Given the description of an element on the screen output the (x, y) to click on. 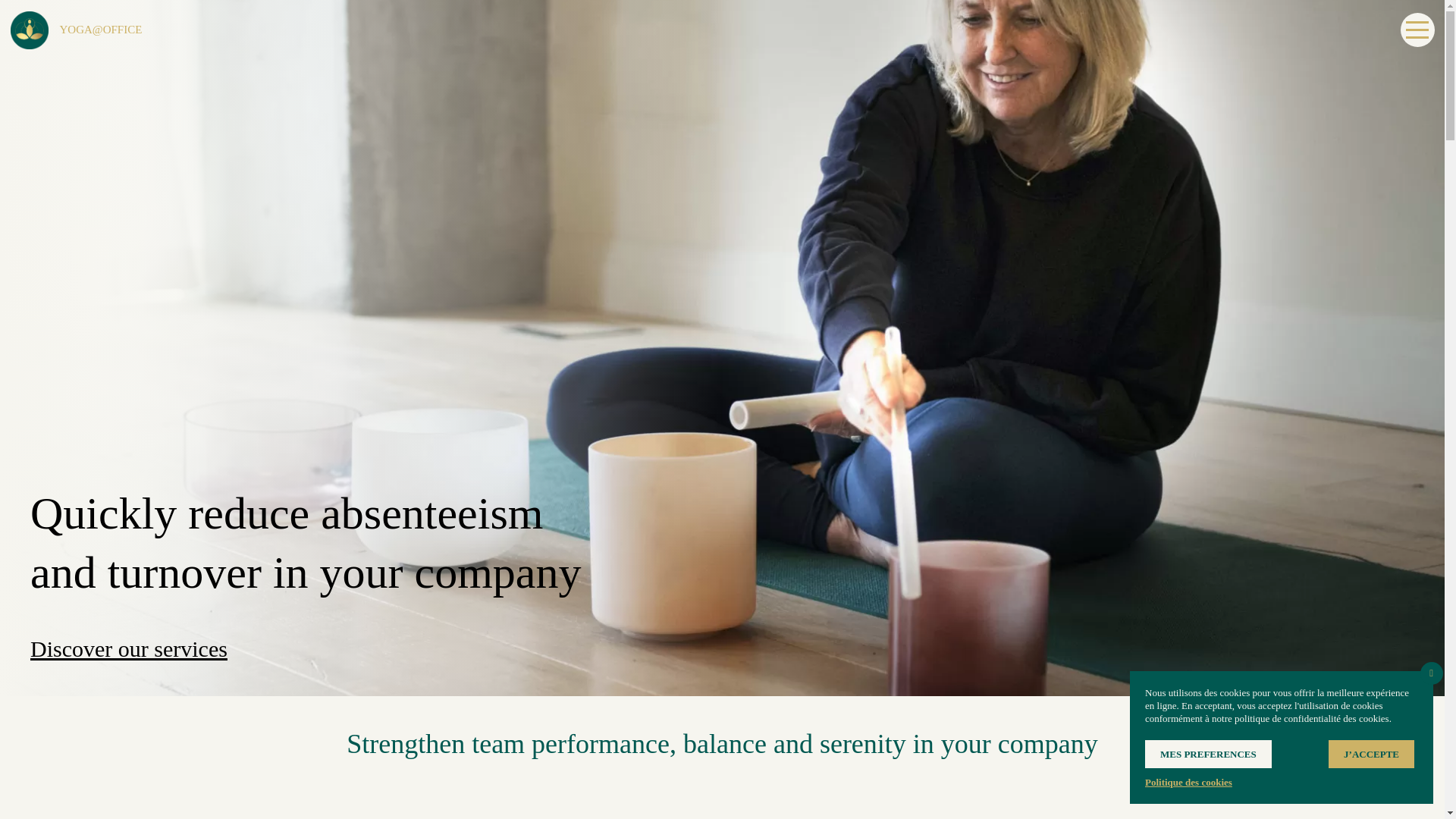
Discover our services (128, 648)
